Given the description of an element on the screen output the (x, y) to click on. 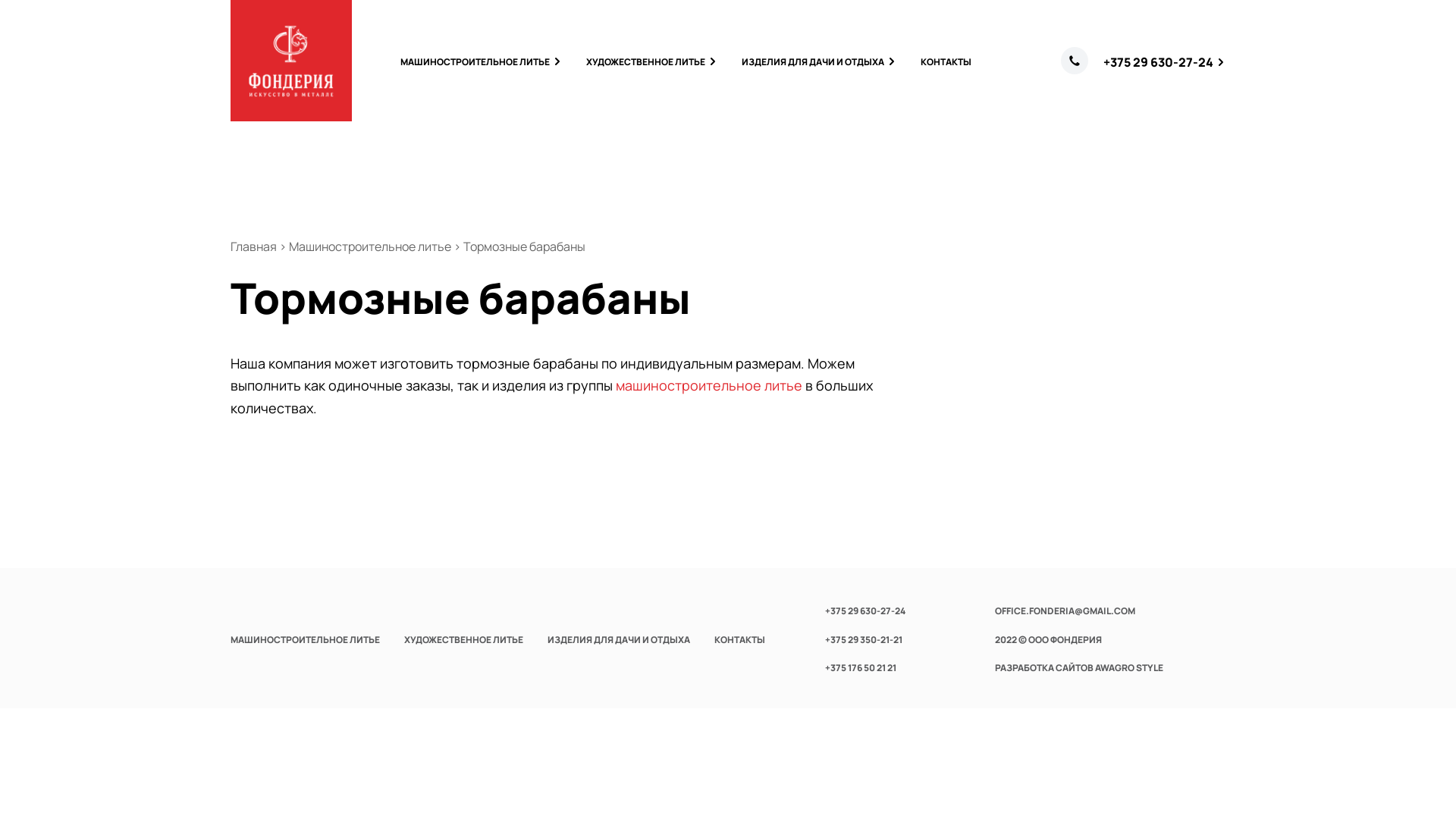
+375 29 630-27-24 Element type: text (865, 610)
+375 29 350-21-21 Element type: text (863, 639)
OFFICE.FONDERIA@GMAIL.COM Element type: text (1064, 610)
+375 29 630-27-24 Element type: text (1164, 61)
+375 176 50 21 21 Element type: text (860, 667)
